Given the description of an element on the screen output the (x, y) to click on. 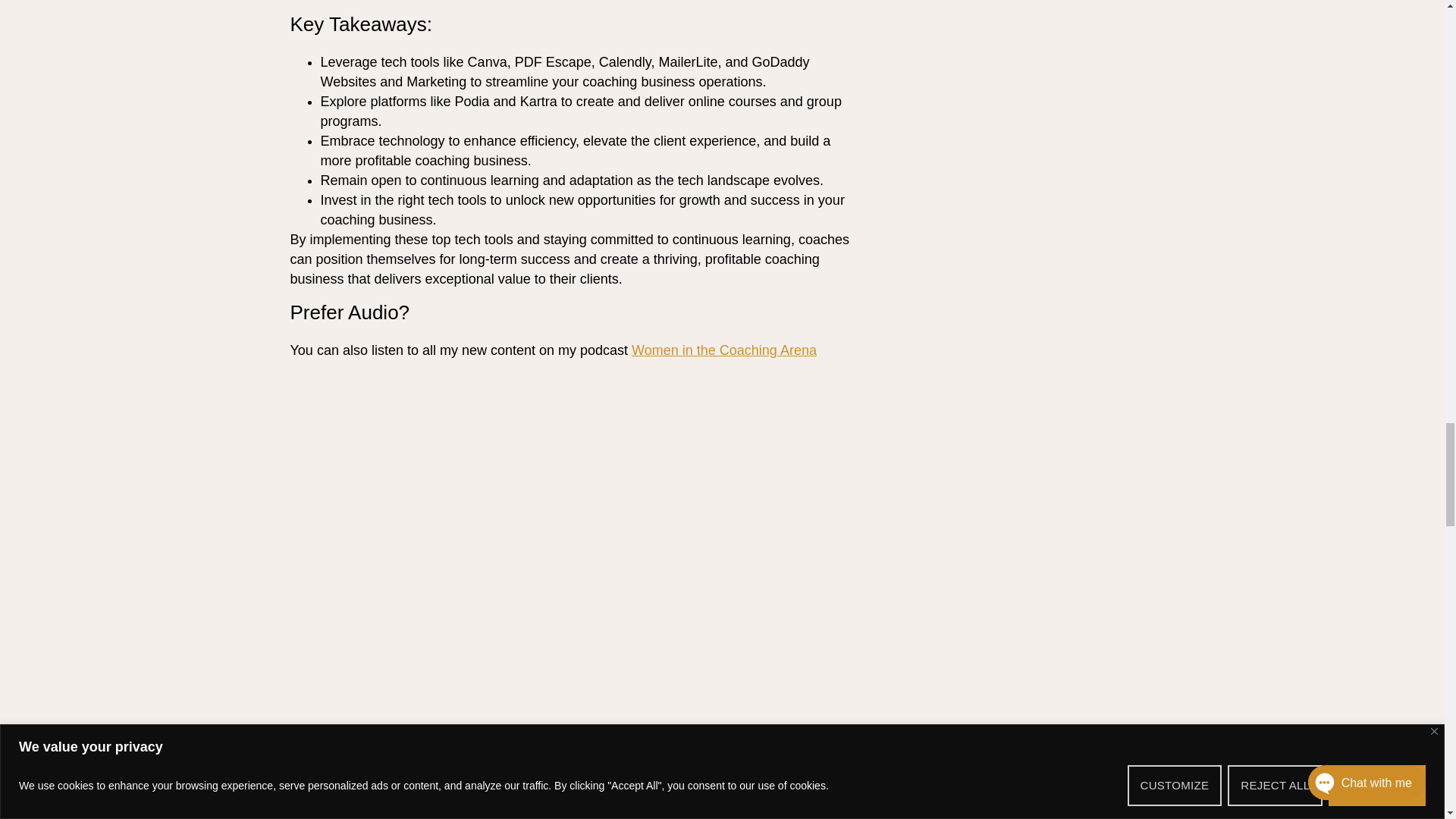
Women in the Coaching Arena (723, 350)
